Given the description of an element on the screen output the (x, y) to click on. 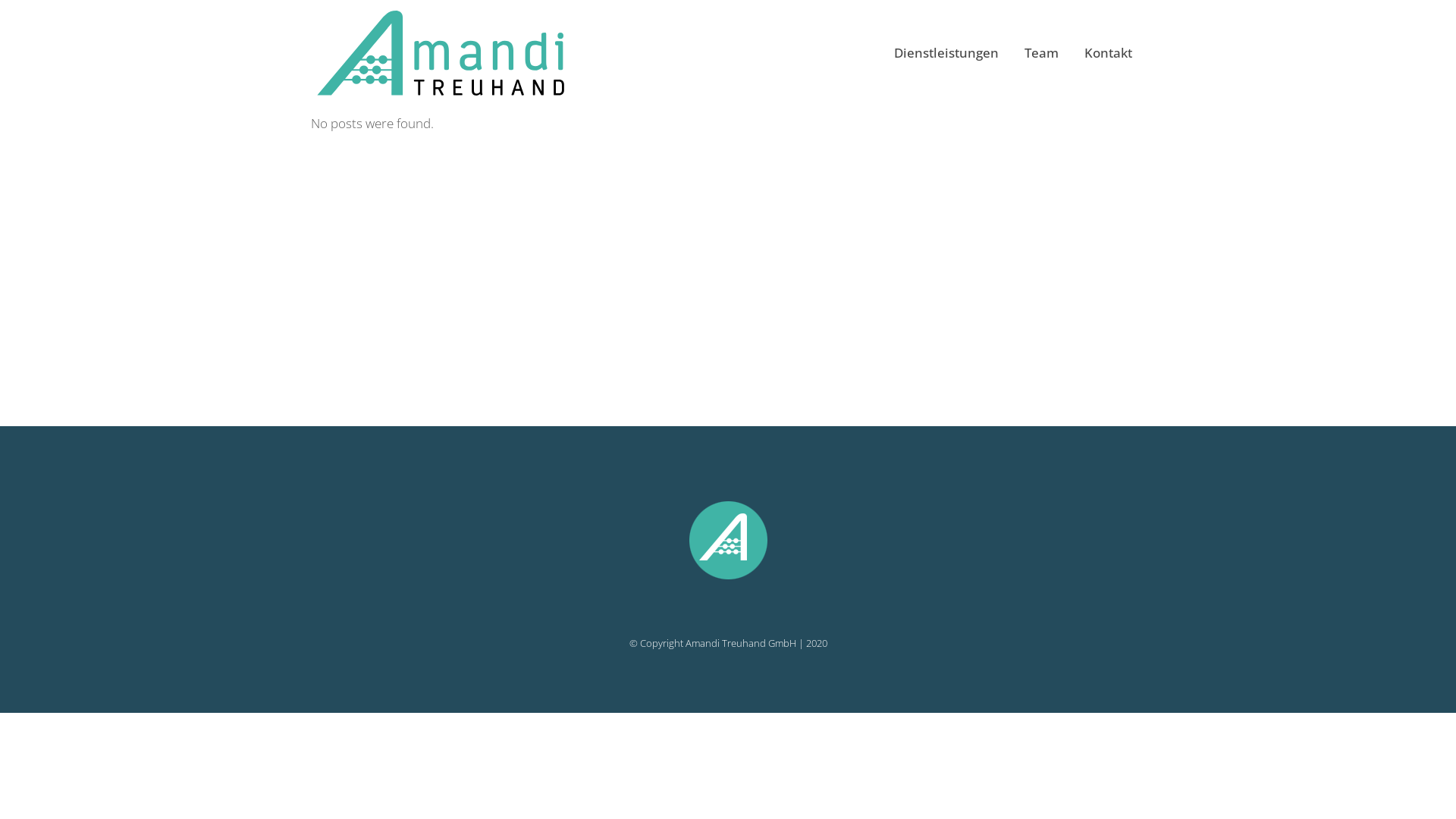
Dienstleistungen Element type: text (946, 53)
Kontakt Element type: text (1108, 53)
Team Element type: text (1041, 53)
